Given the description of an element on the screen output the (x, y) to click on. 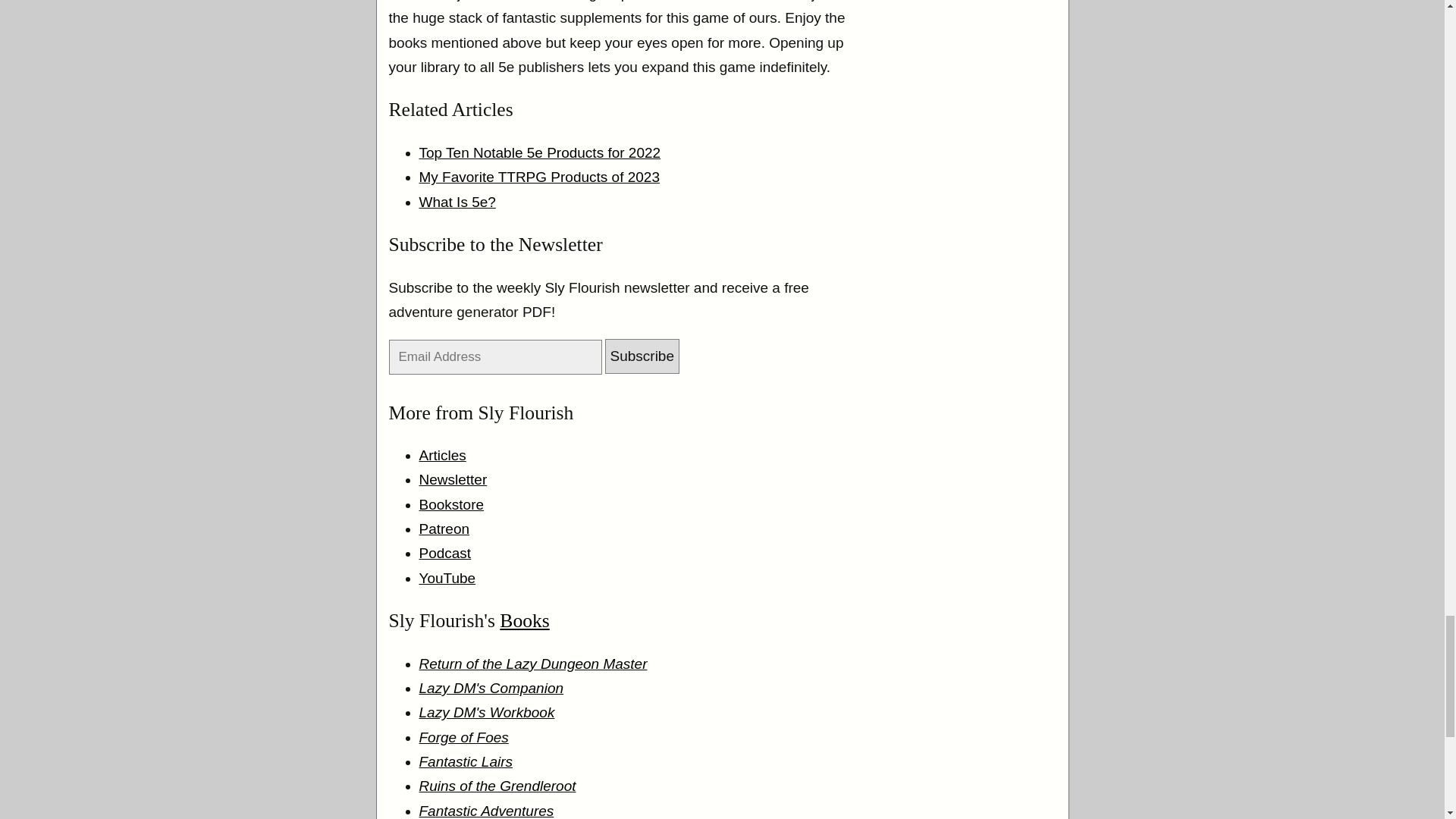
Subscribe (642, 356)
